Given the description of an element on the screen output the (x, y) to click on. 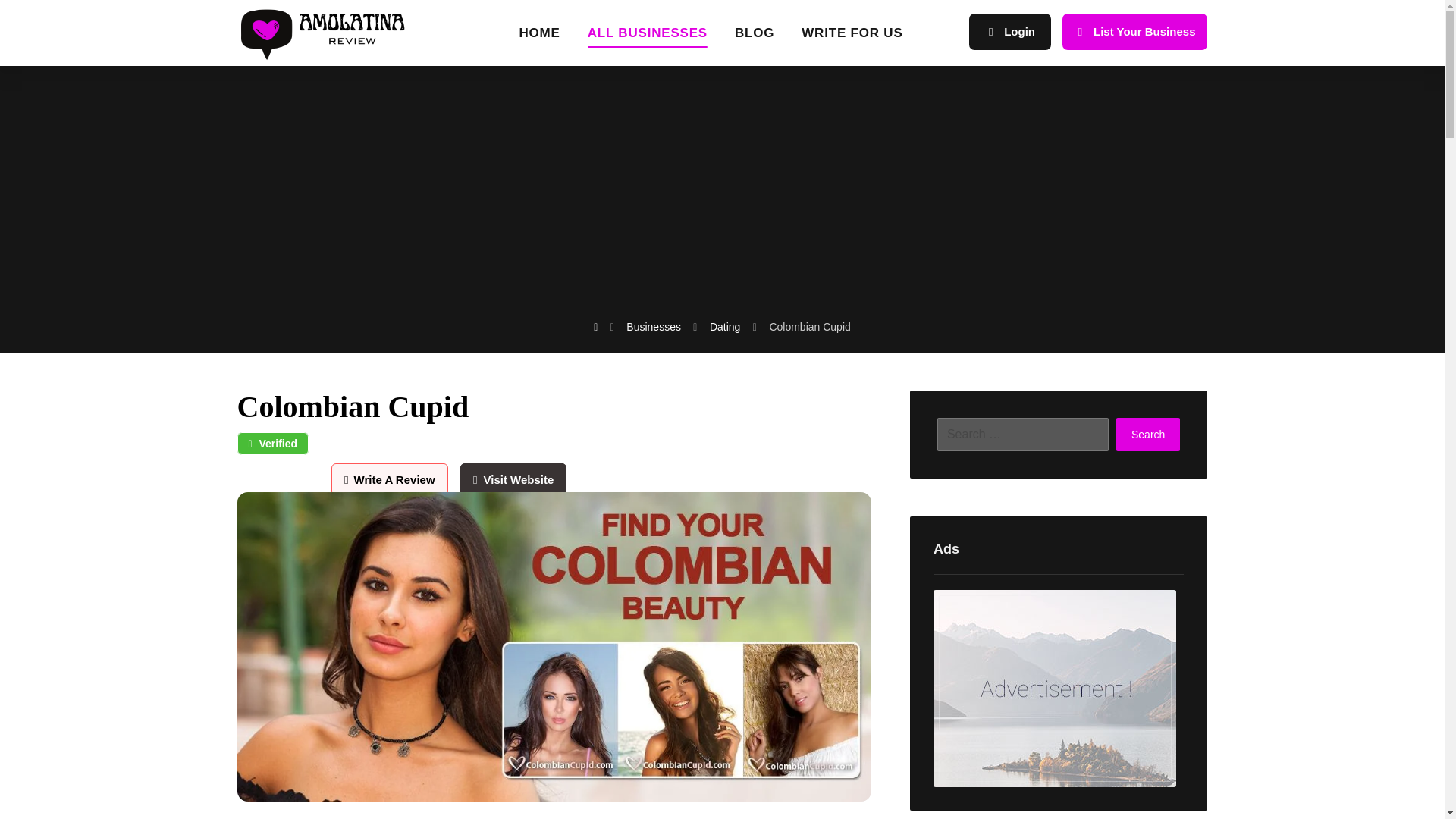
Best Amolatina Review Website (332, 33)
Search (1147, 434)
Visit Website (513, 479)
Businesses (653, 326)
Ads (1058, 688)
ALL BUSINESSES (647, 38)
WRITE FOR US (852, 38)
BLOG (754, 38)
Colombian Cupid (809, 326)
Write A Review (394, 479)
Dating (724, 326)
Verified (271, 443)
List Your Business (1134, 31)
Login (1010, 31)
